Given the description of an element on the screen output the (x, y) to click on. 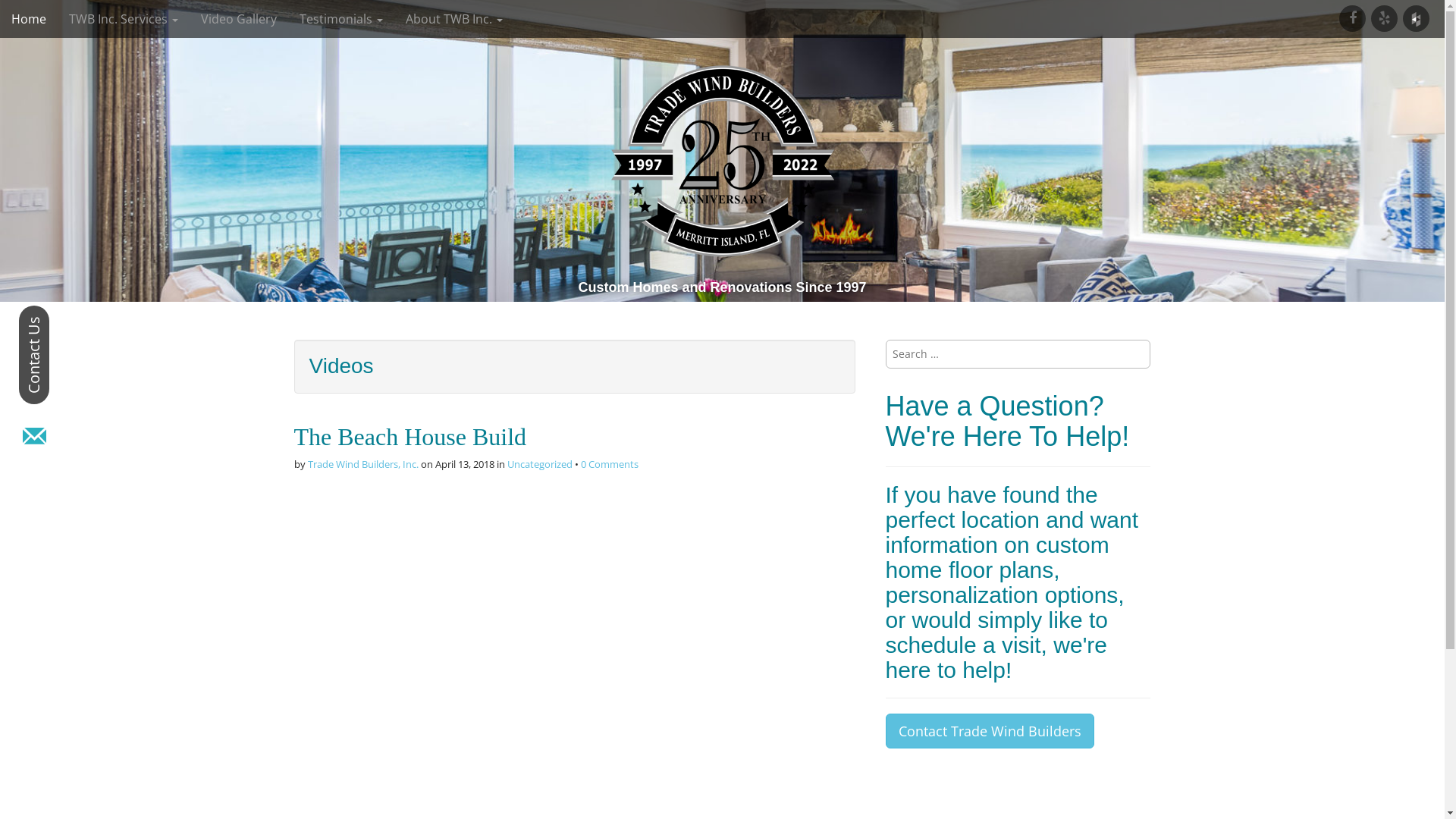
Uncategorized Element type: text (538, 463)
Home Element type: text (28, 18)
April 13, 2018 Element type: text (464, 463)
Contact Trade Wind Builders Element type: text (989, 730)
TWB Inc. Services Element type: text (123, 18)
0 Comments Element type: text (609, 463)
The Beach House Build Element type: text (410, 436)
Testimonials Element type: text (341, 18)
Trade Wind Builders, Inc. Element type: text (362, 463)
About TWB Inc. Element type: text (454, 18)
Video Gallery Element type: text (238, 18)
